Given the description of an element on the screen output the (x, y) to click on. 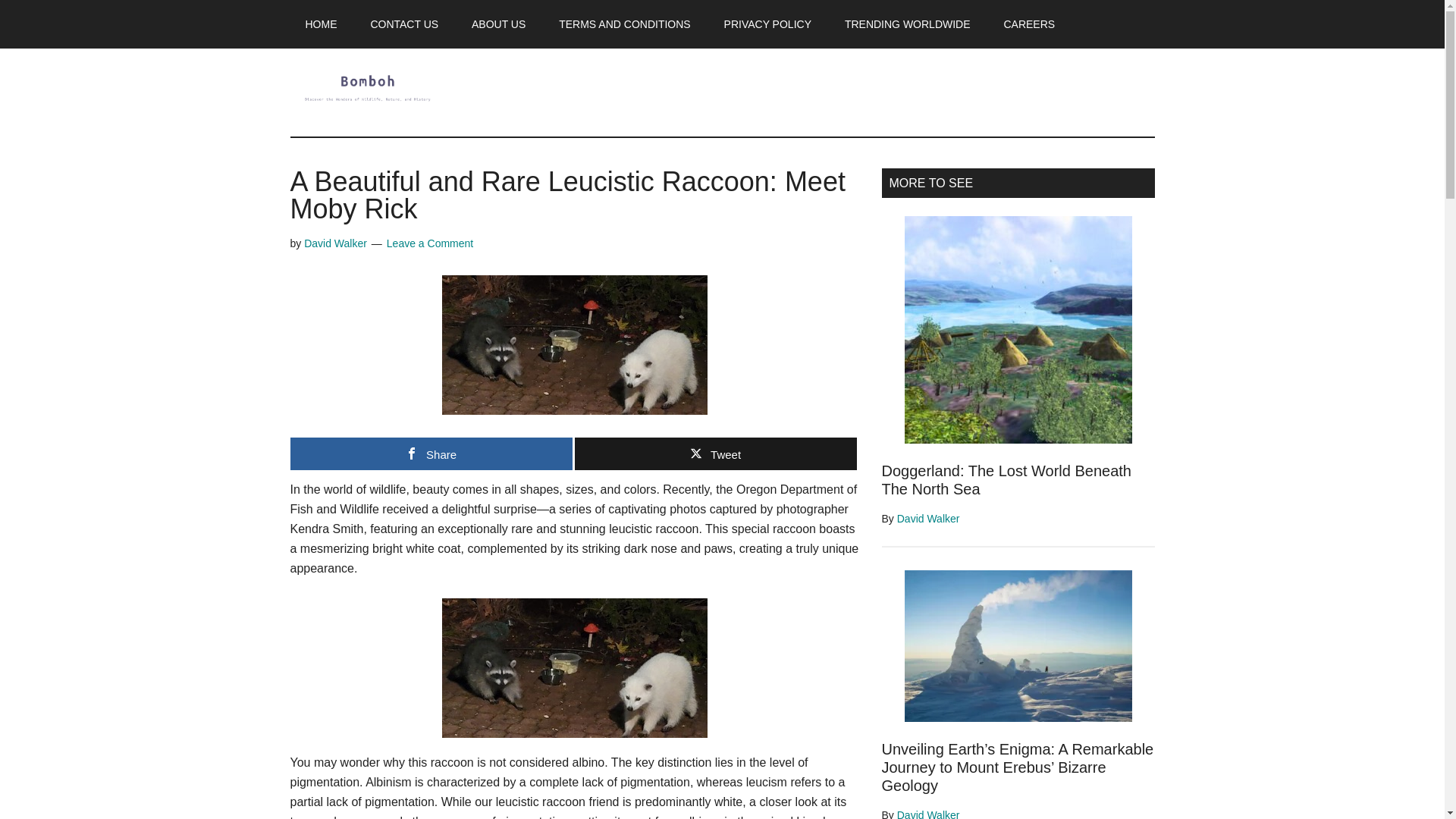
PRIVACY POLICY (768, 24)
Share (430, 453)
HOME (320, 24)
TRENDING WORLDWIDE (907, 24)
David Walker (335, 243)
TERMS AND CONDITIONS (623, 24)
CONTACT US (403, 24)
Leave a Comment (430, 243)
CAREERS (1029, 24)
